Given the description of an element on the screen output the (x, y) to click on. 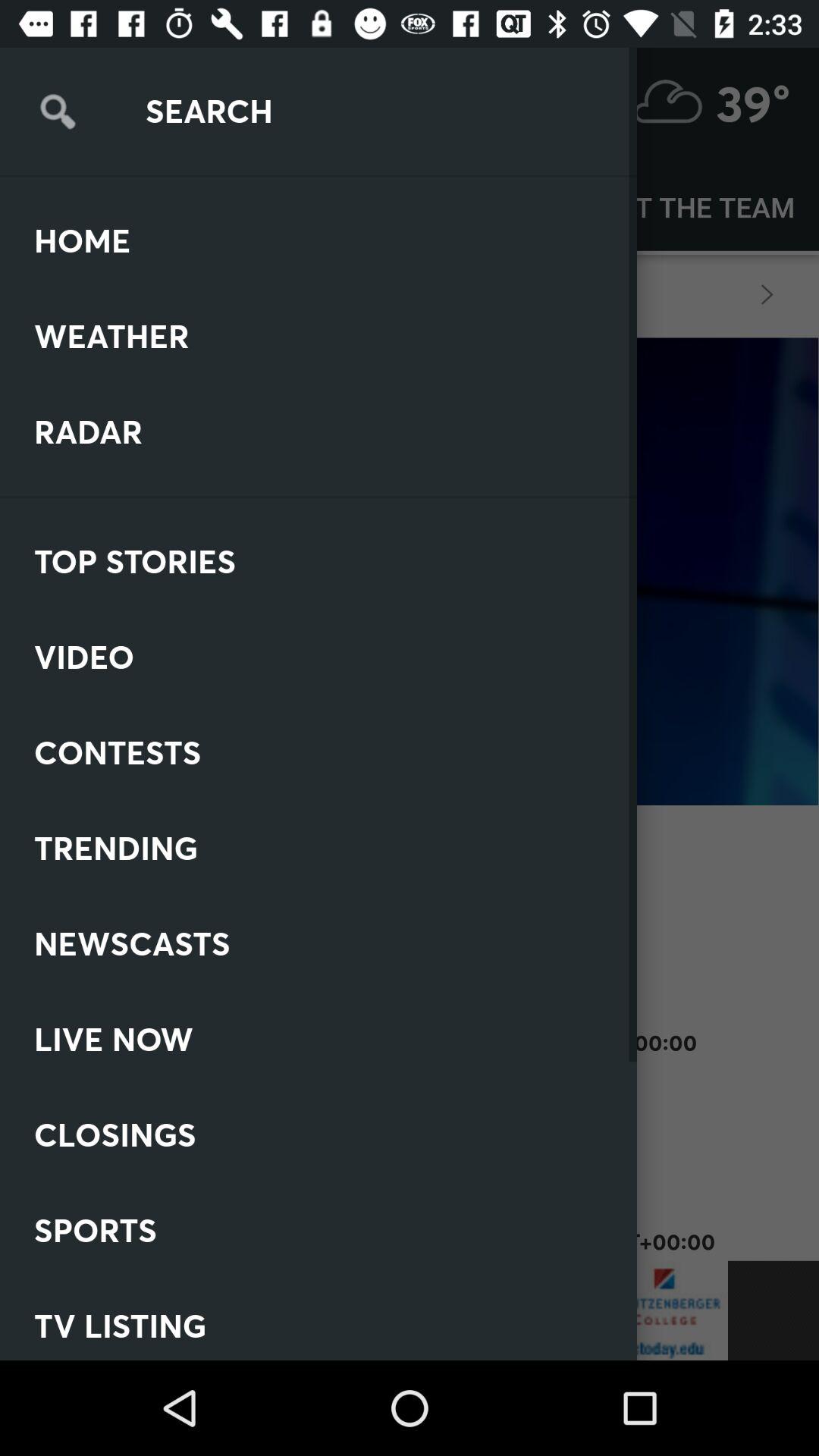
select sports (151, 1214)
